Given the description of an element on the screen output the (x, y) to click on. 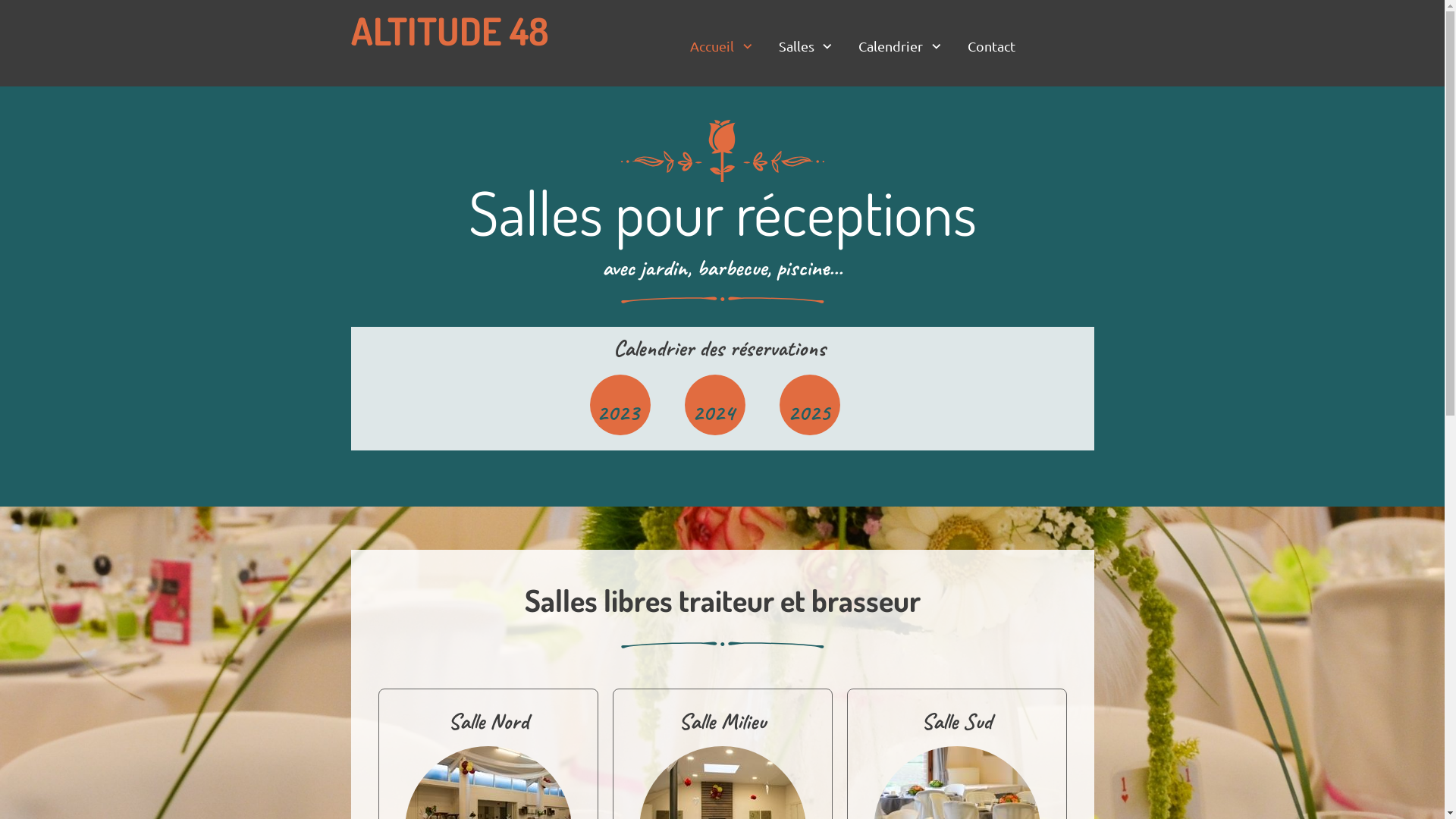
Calendrier Element type: text (901, 46)
2025 Element type: text (808, 412)
Contact Element type: text (991, 46)
2024 Element type: text (712, 412)
Salles Element type: text (807, 46)
Accueil Element type: text (722, 46)
2023 Element type: text (617, 412)
